Given the description of an element on the screen output the (x, y) to click on. 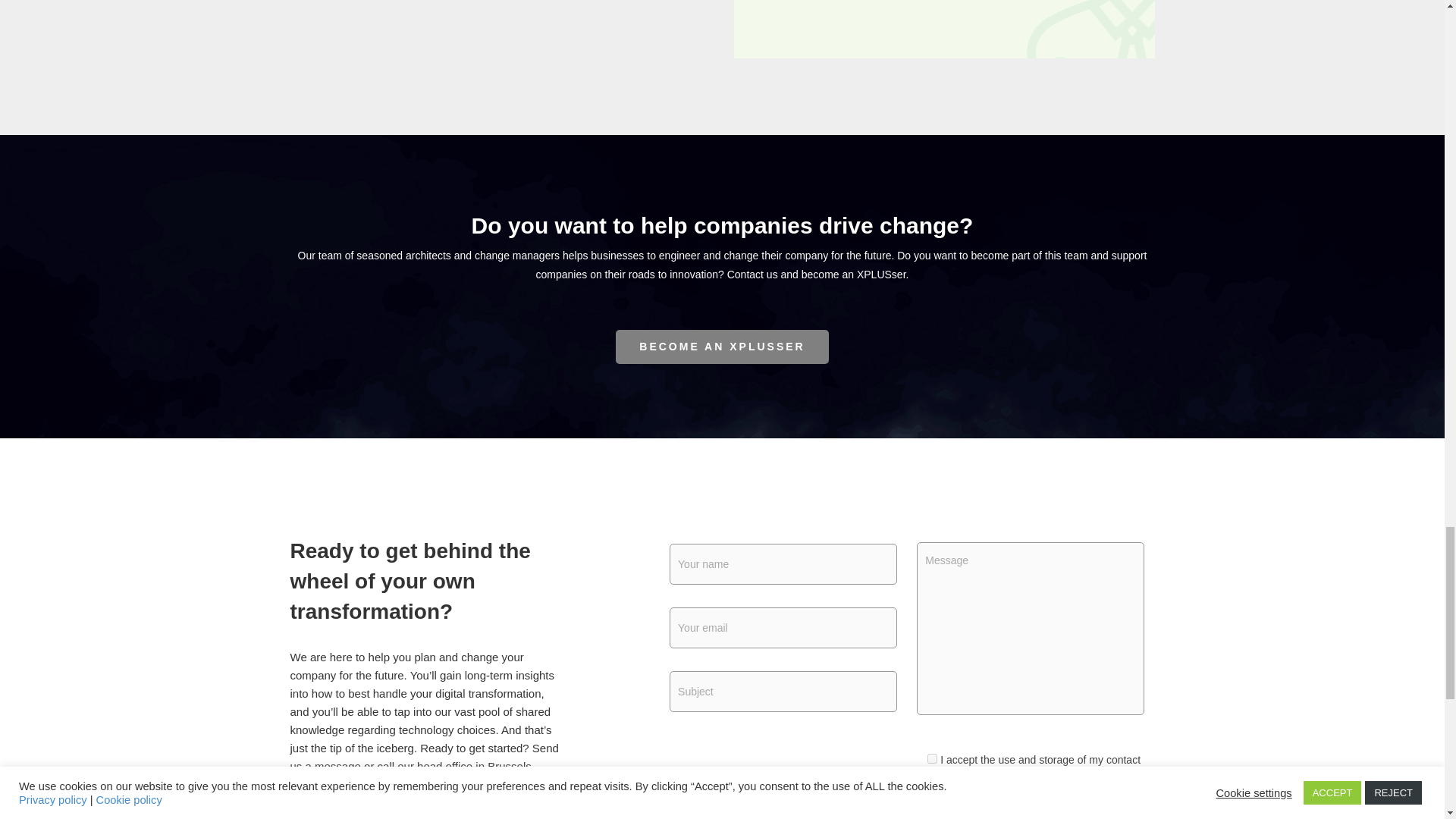
BECOME AN XPLUSSER (721, 346)
privacy policy (1053, 812)
1 (932, 758)
